Given the description of an element on the screen output the (x, y) to click on. 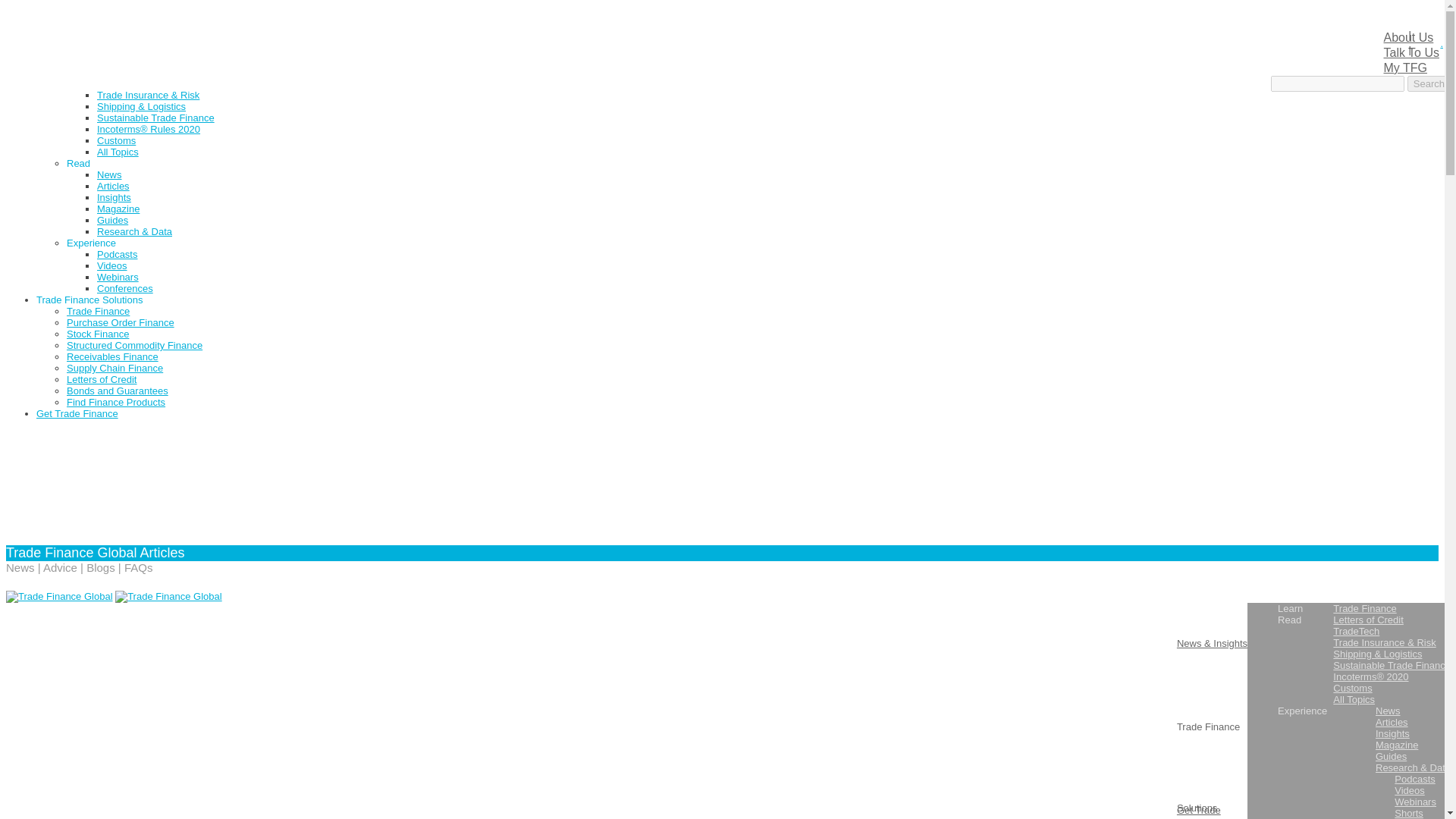
Sibos 2023 (60, 26)
Read (78, 163)
Posts by Sheena Magdaraog (63, 713)
Learn (78, 49)
Customs (116, 140)
Letters of Credit (132, 71)
TradeTech (119, 83)
Home (49, 15)
Trade Finance (128, 60)
Sustainable Trade Finance (155, 117)
News (109, 174)
All Topics (117, 152)
Posts by Sheena Magdaraog (132, 691)
